Given the description of an element on the screen output the (x, y) to click on. 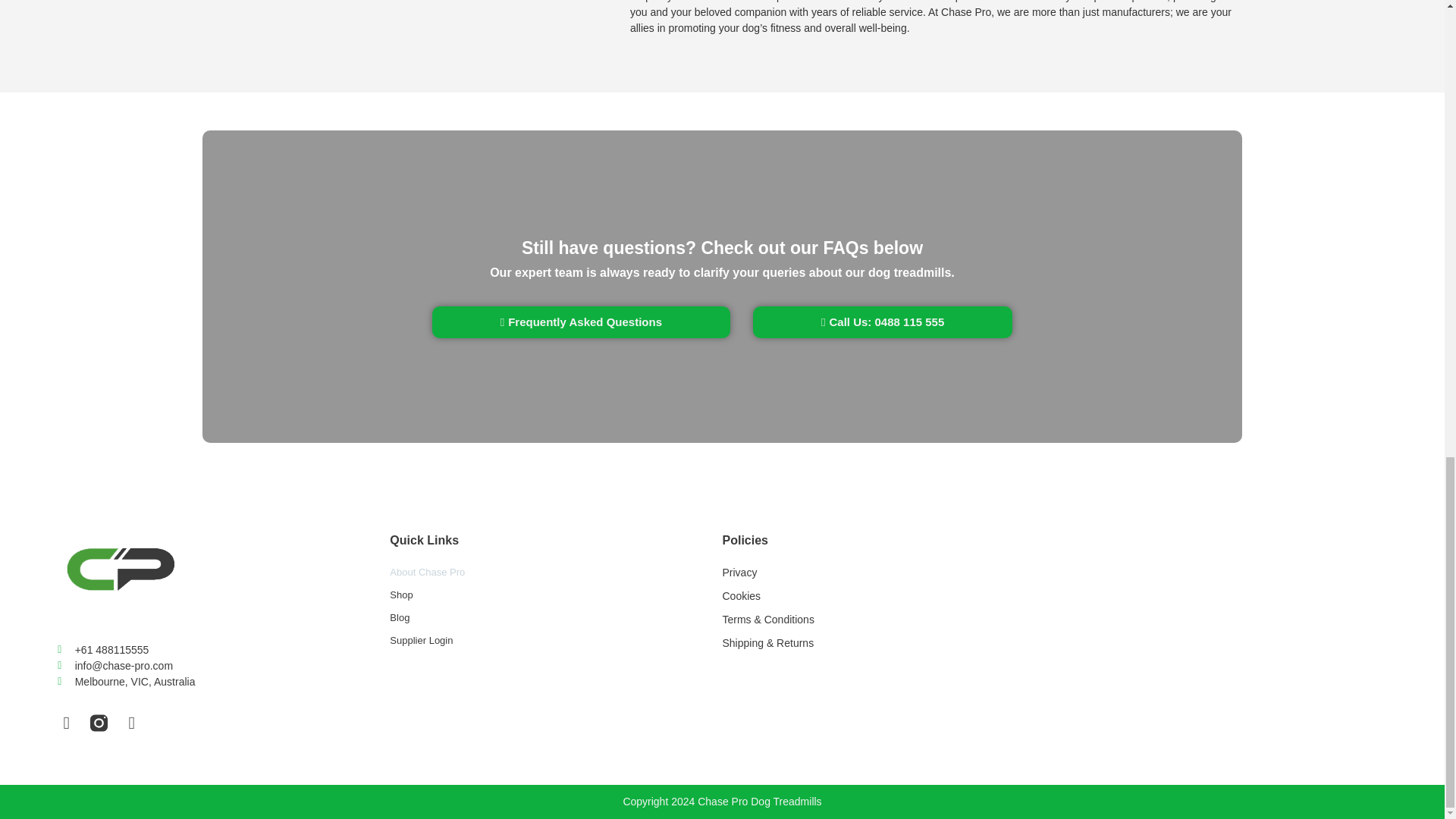
Call Us: 0488 115 555 (881, 322)
Blog (556, 617)
Shop (556, 595)
Melbourne, VIC, Australia (224, 682)
About Chase Pro (556, 572)
Frequently Asked Questions (581, 322)
